Given the description of an element on the screen output the (x, y) to click on. 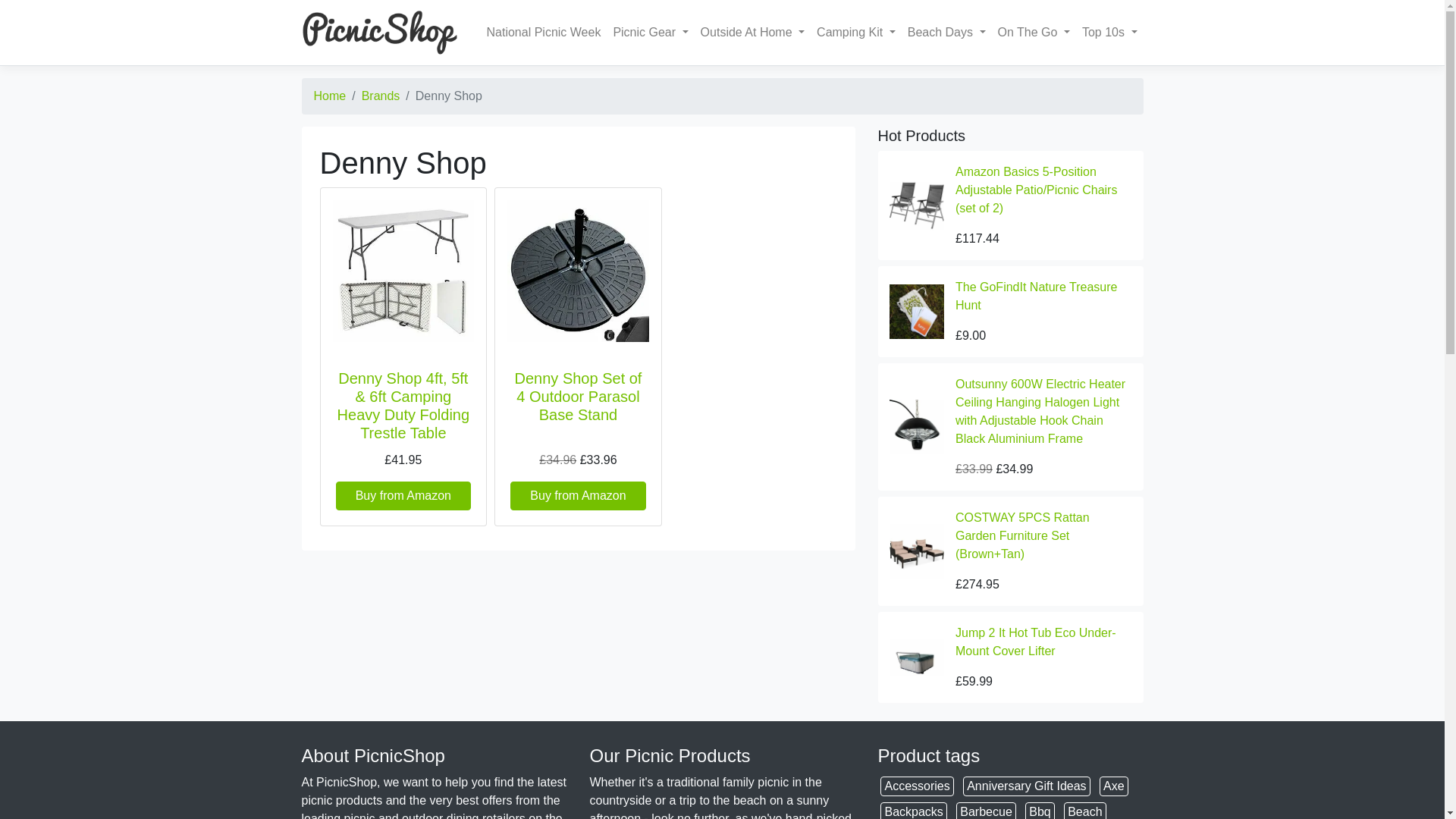
Outside At Home (752, 32)
Picnic Gear (650, 32)
Top 10s (1108, 32)
On The Go (1033, 32)
Beach Days (946, 32)
Camping Kit (855, 32)
National Picnic Week (543, 32)
